Given the description of an element on the screen output the (x, y) to click on. 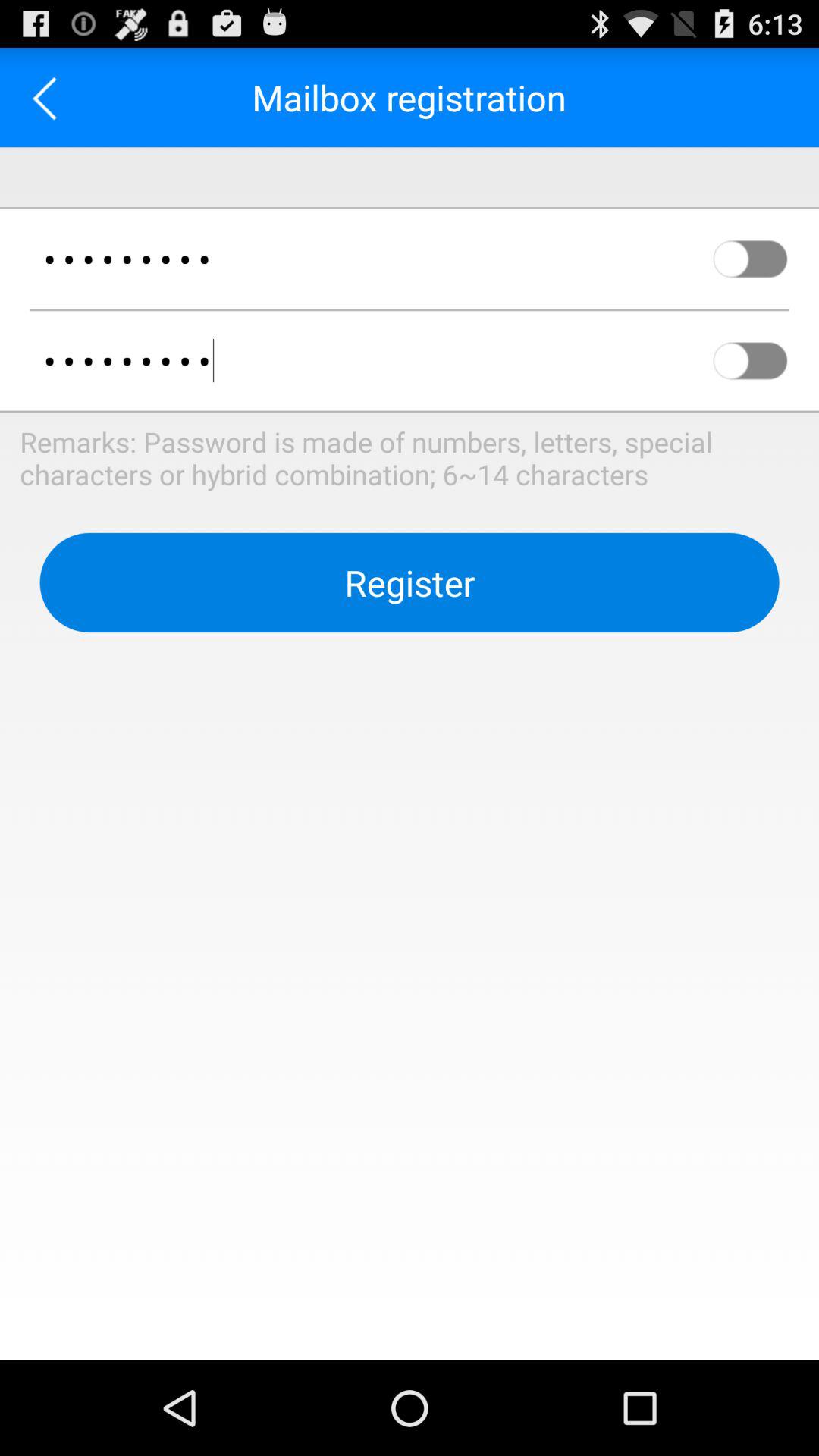
go back (49, 97)
